Given the description of an element on the screen output the (x, y) to click on. 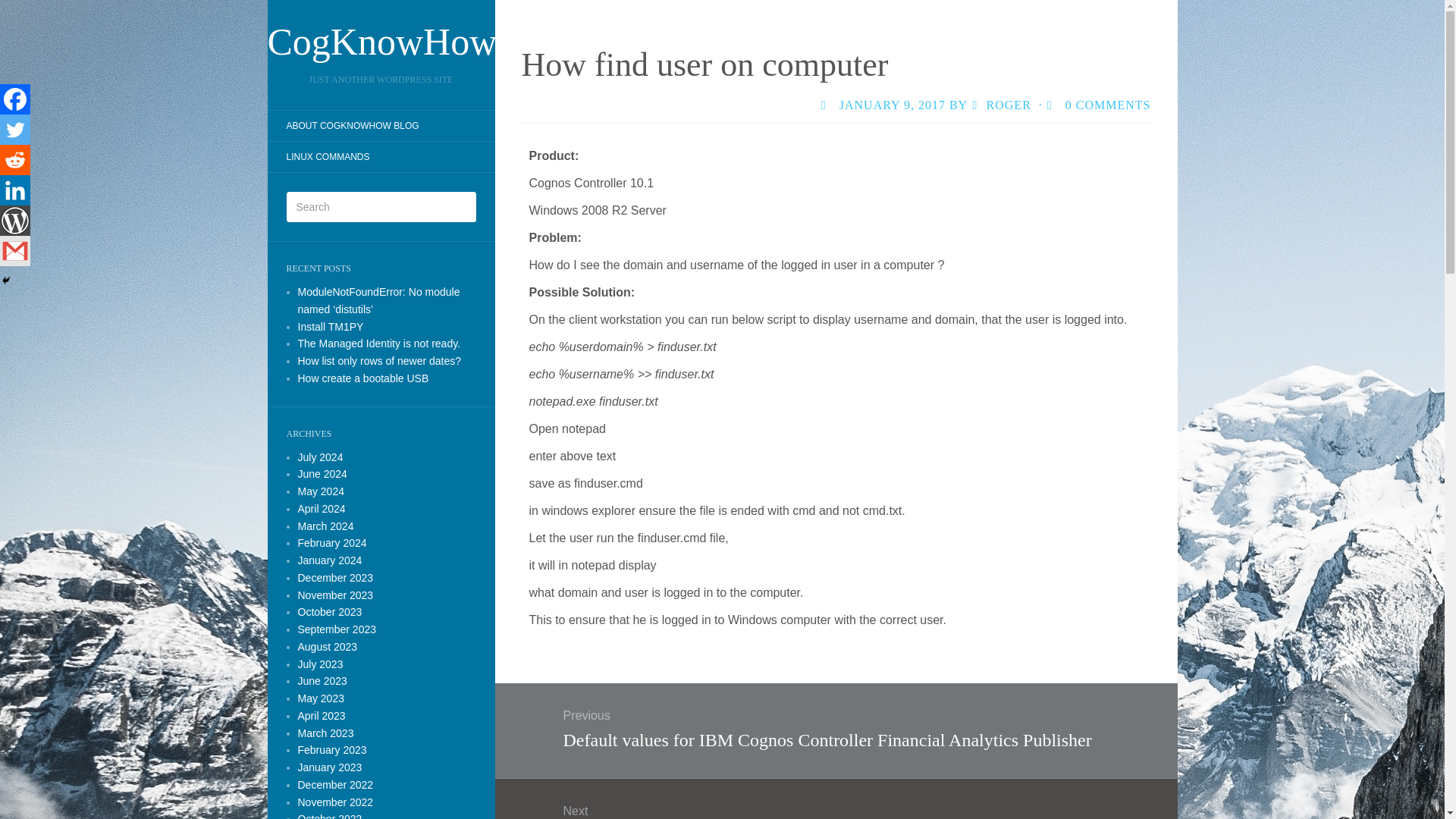
August 2023 (326, 646)
May 2024 (320, 491)
LINUX COMMANDS (327, 156)
February 2023 (331, 749)
ABOUT COGKNOWHOW BLOG (352, 125)
April 2023 (321, 715)
Search (22, 11)
How list only rows of newer dates? (379, 360)
July 2024 (319, 456)
December 2023 (334, 577)
January 2023 (329, 767)
February 2024 (331, 542)
How create a bootable USB (362, 378)
Google Gmail (15, 250)
Hide (5, 280)
